Given the description of an element on the screen output the (x, y) to click on. 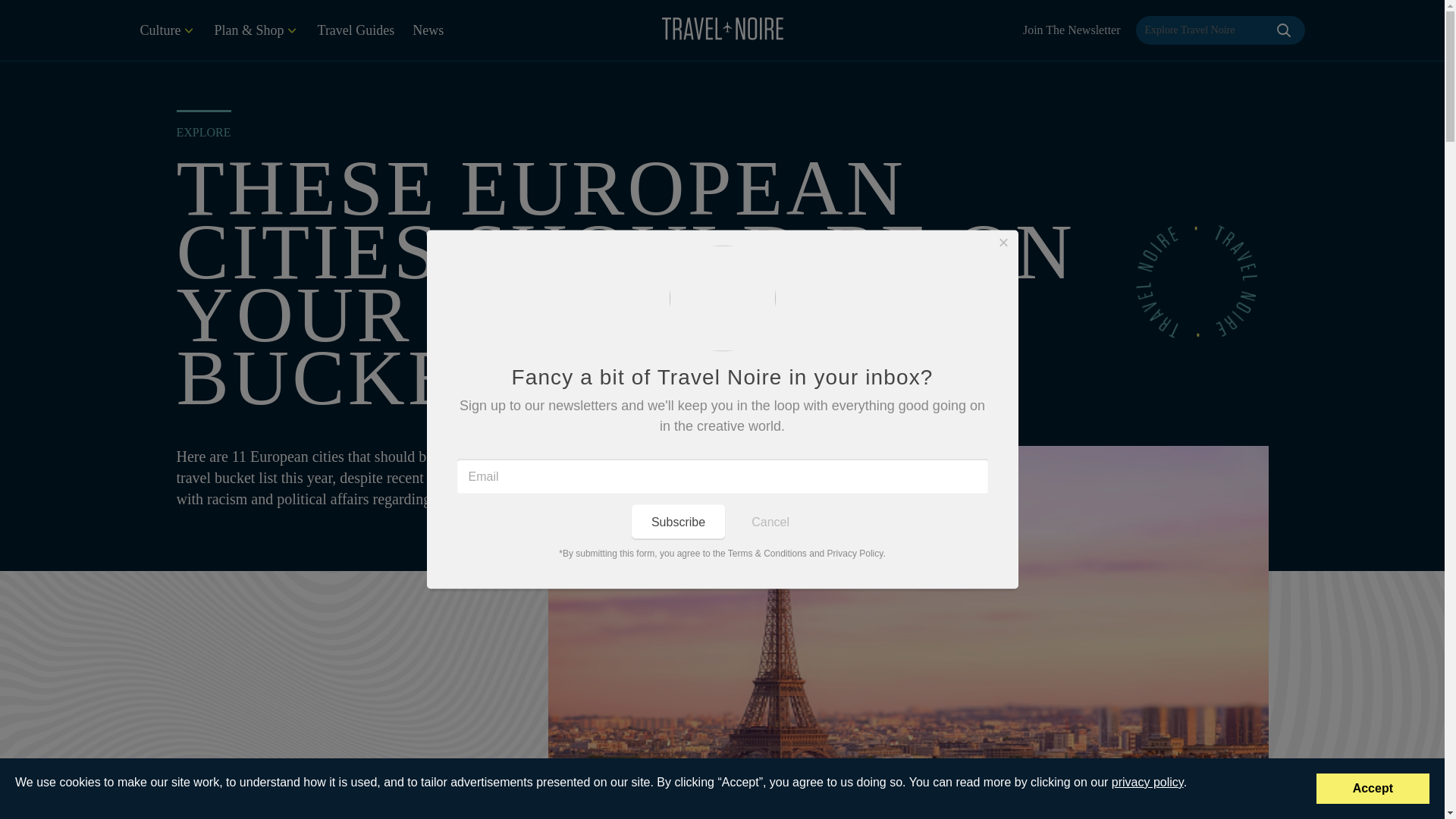
EXPLORE (203, 132)
Join The Newsletter (1072, 29)
Culture (167, 30)
News (428, 29)
Travel Guides (355, 29)
Rachel George (211, 793)
Newsletter (1072, 29)
Travel Noire (722, 28)
Rachel George (211, 793)
